Given the description of an element on the screen output the (x, y) to click on. 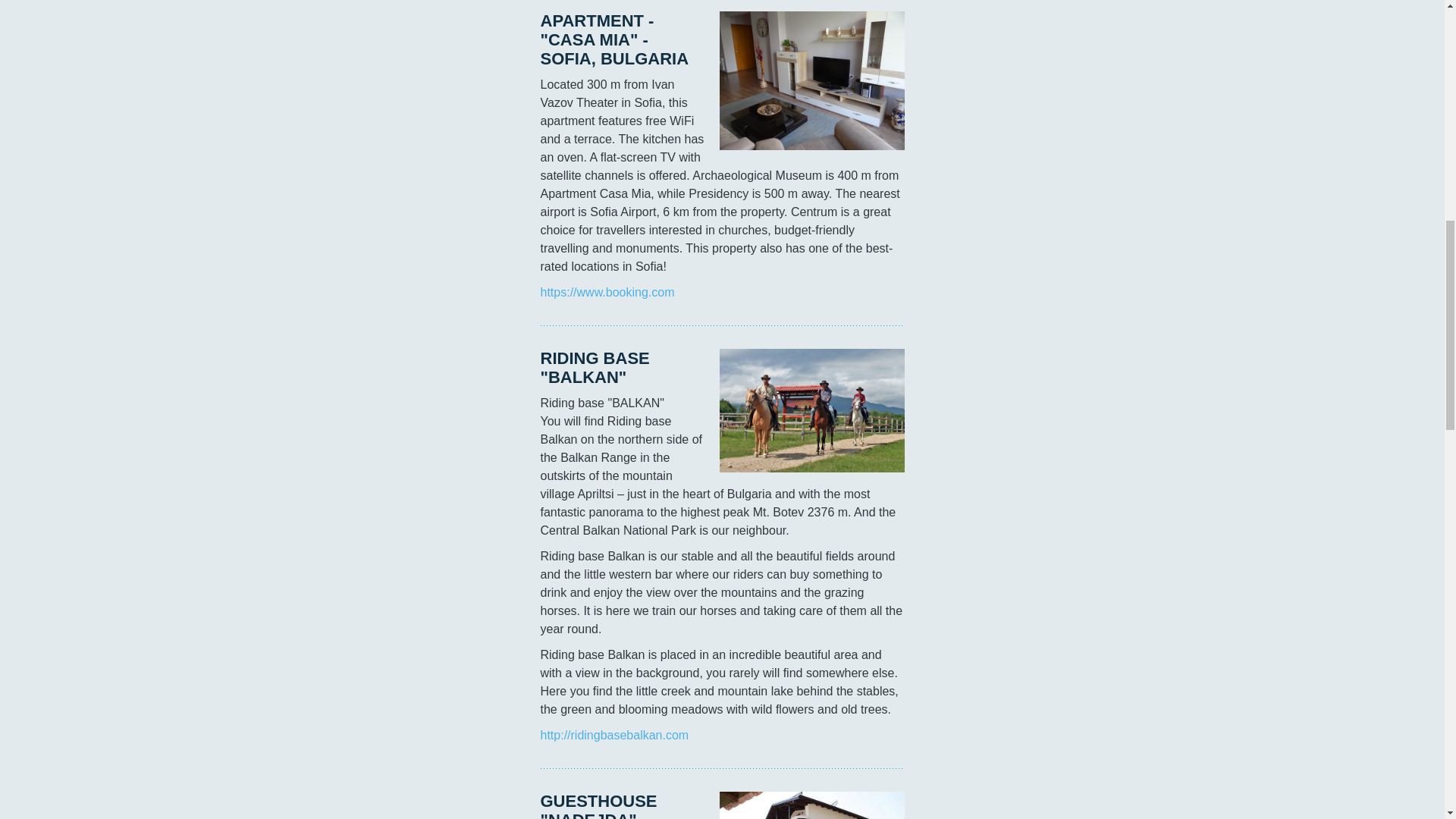
Riding base  (811, 410)
Guesthouse  (811, 805)
Apartment -  (811, 80)
